Given the description of an element on the screen output the (x, y) to click on. 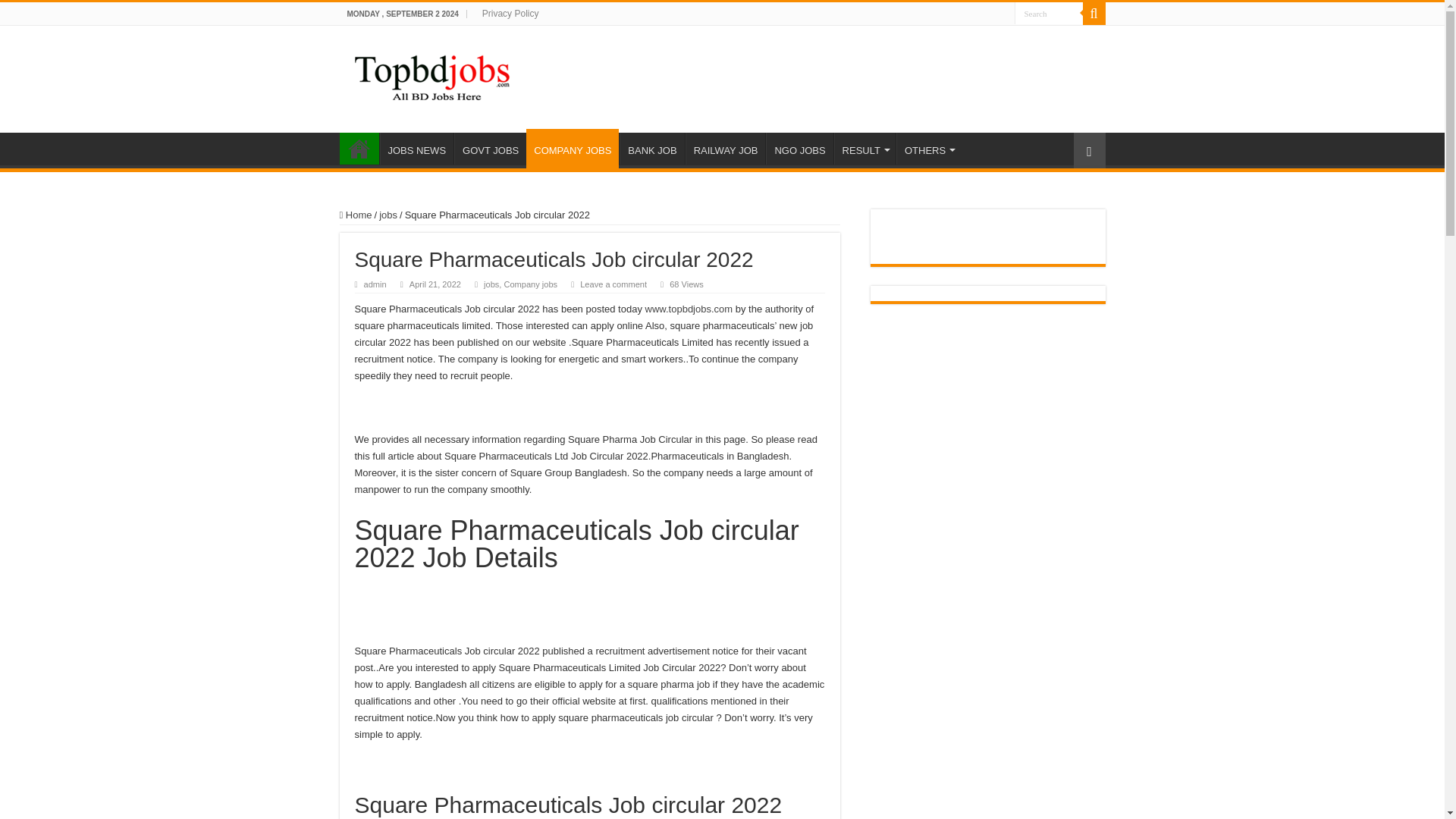
JOBS NEWS (415, 148)
Search (1048, 13)
jobs (387, 214)
Search (1048, 13)
Leave a comment (612, 284)
Search (1048, 13)
Privacy Policy (510, 13)
HOME (358, 148)
TopBDjobs (431, 76)
Company jobs (530, 284)
